Given the description of an element on the screen output the (x, y) to click on. 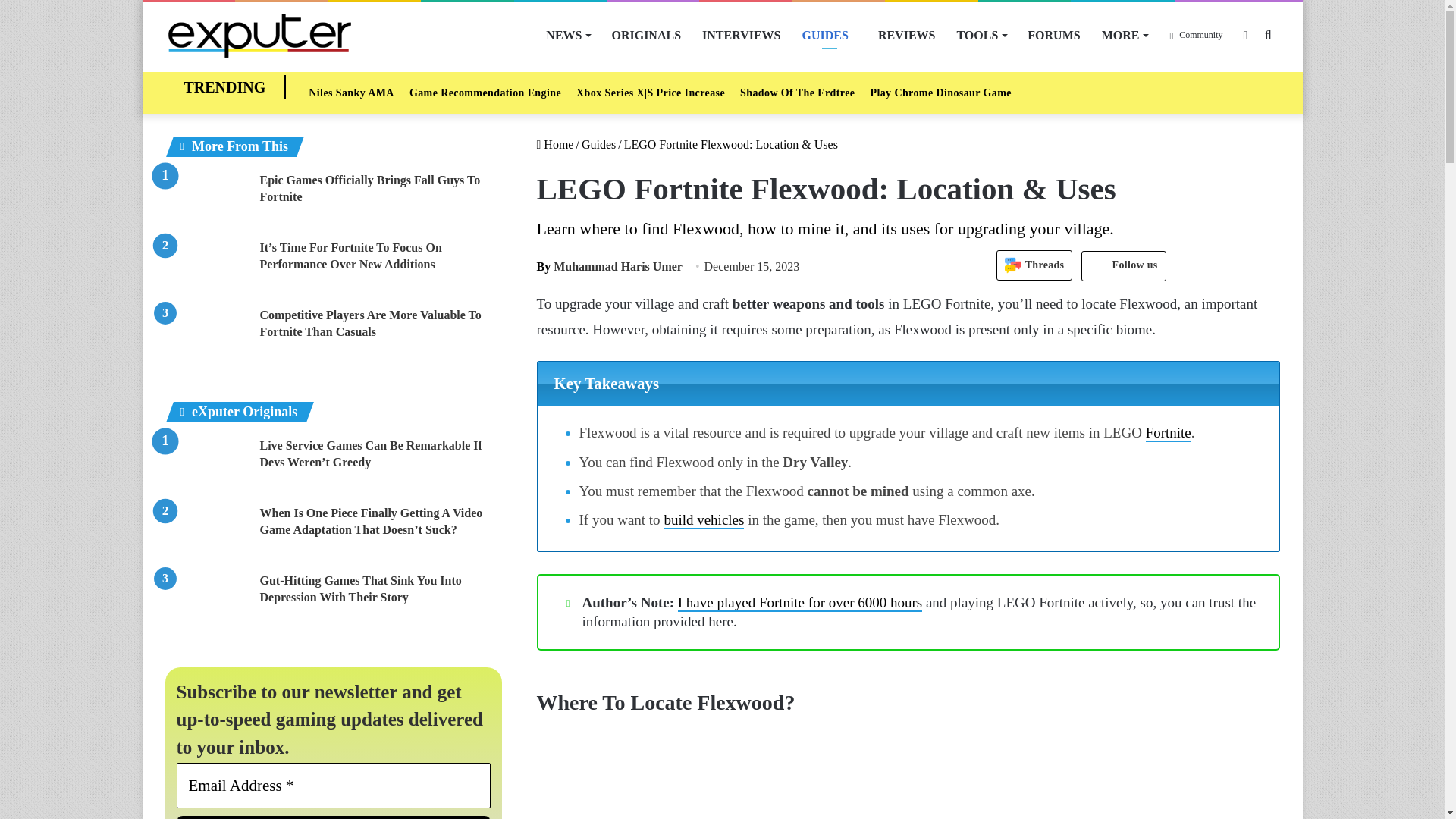
NEWS (567, 35)
INTERVIEWS (740, 35)
Email Address (333, 785)
FORUMS (1053, 35)
Muhammad Haris Umer (609, 266)
ORIGINALS (645, 35)
GUIDES (829, 35)
TOOLS (980, 35)
eXputer.com (259, 34)
REVIEWS (906, 35)
